Given the description of an element on the screen output the (x, y) to click on. 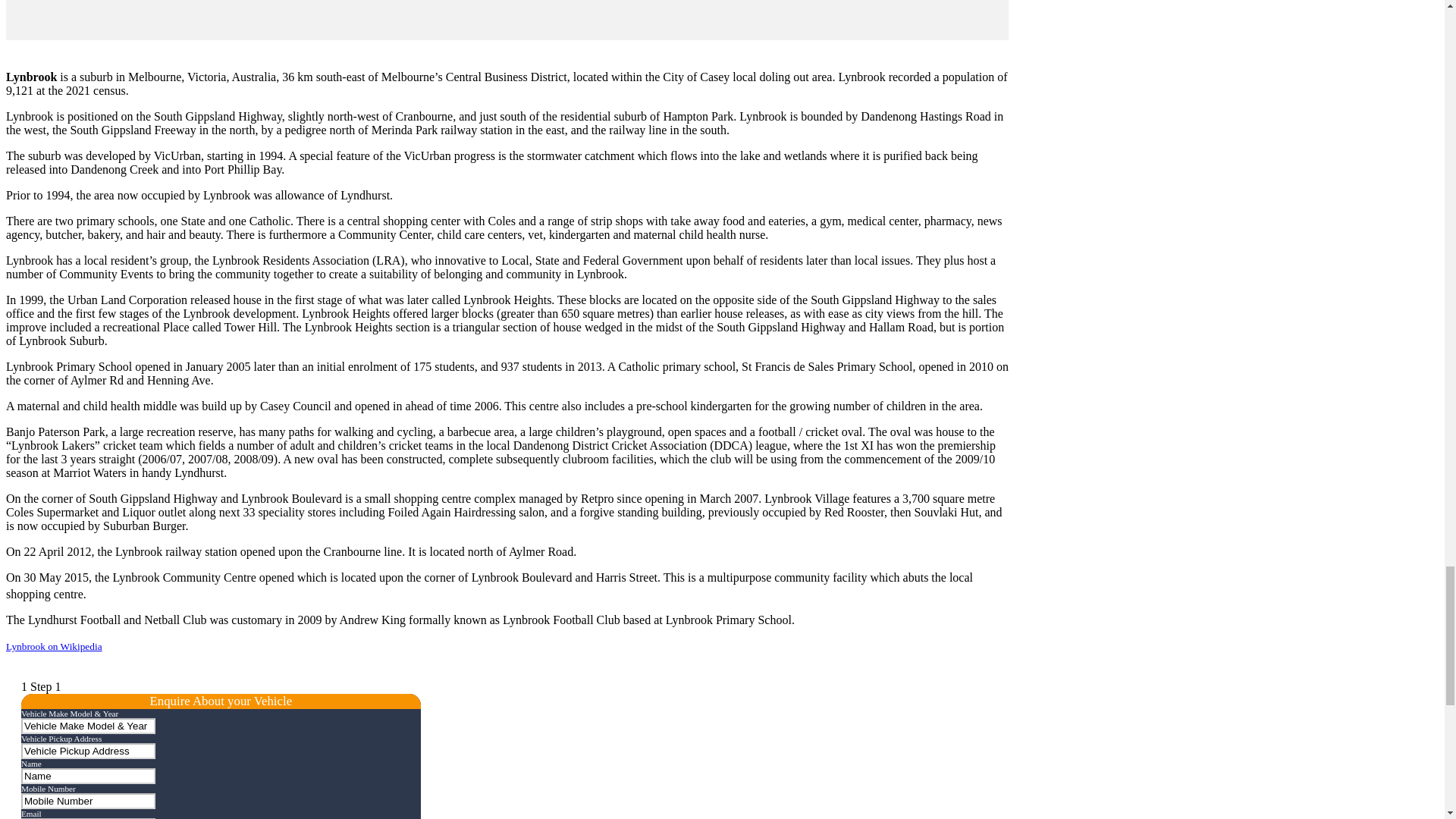
Lynbrook on Wikipedia (53, 645)
